Given the description of an element on the screen output the (x, y) to click on. 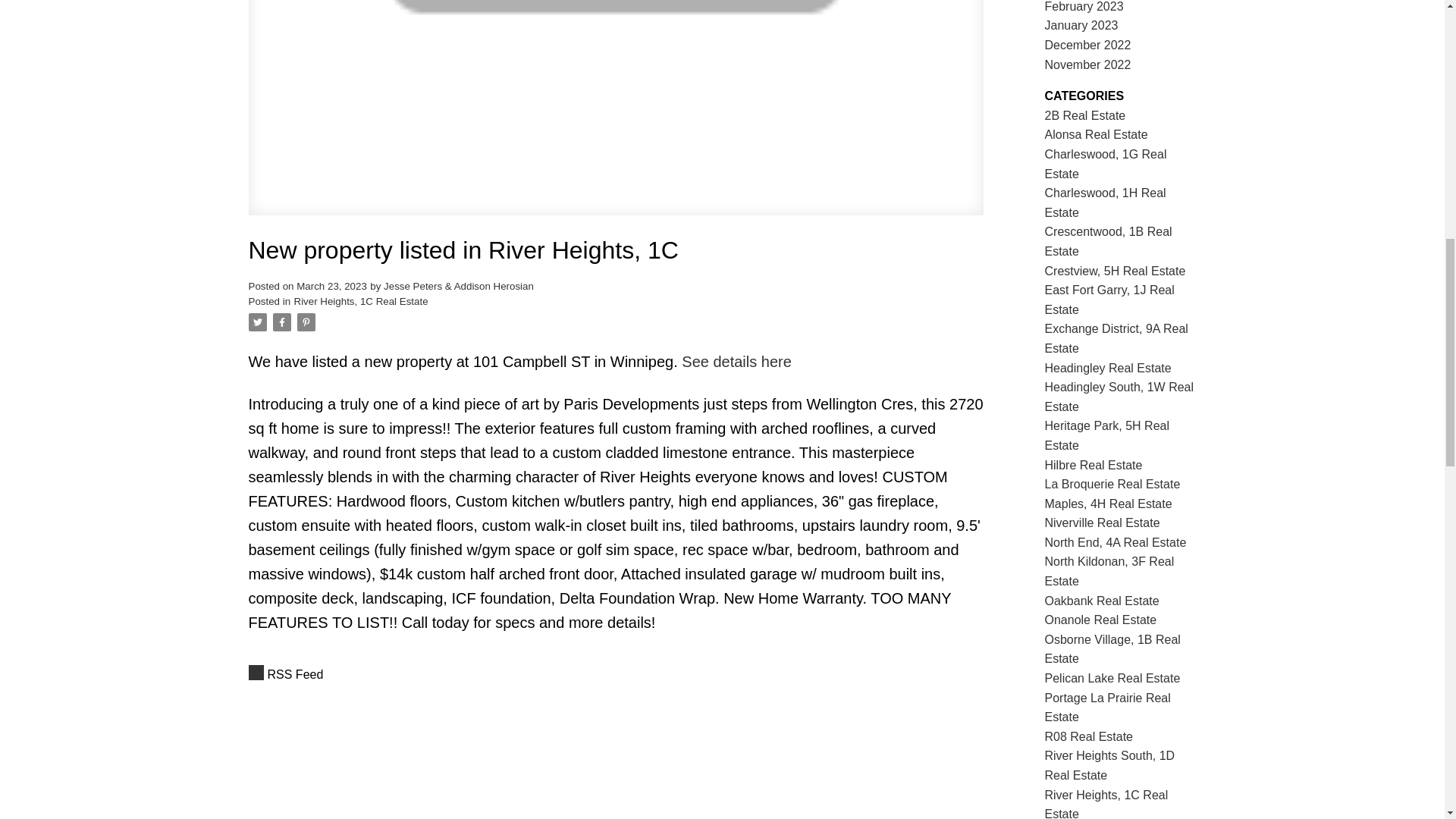
River Heights, 1C Real Estate (361, 301)
RSS (616, 674)
See details here (736, 361)
